Given the description of an element on the screen output the (x, y) to click on. 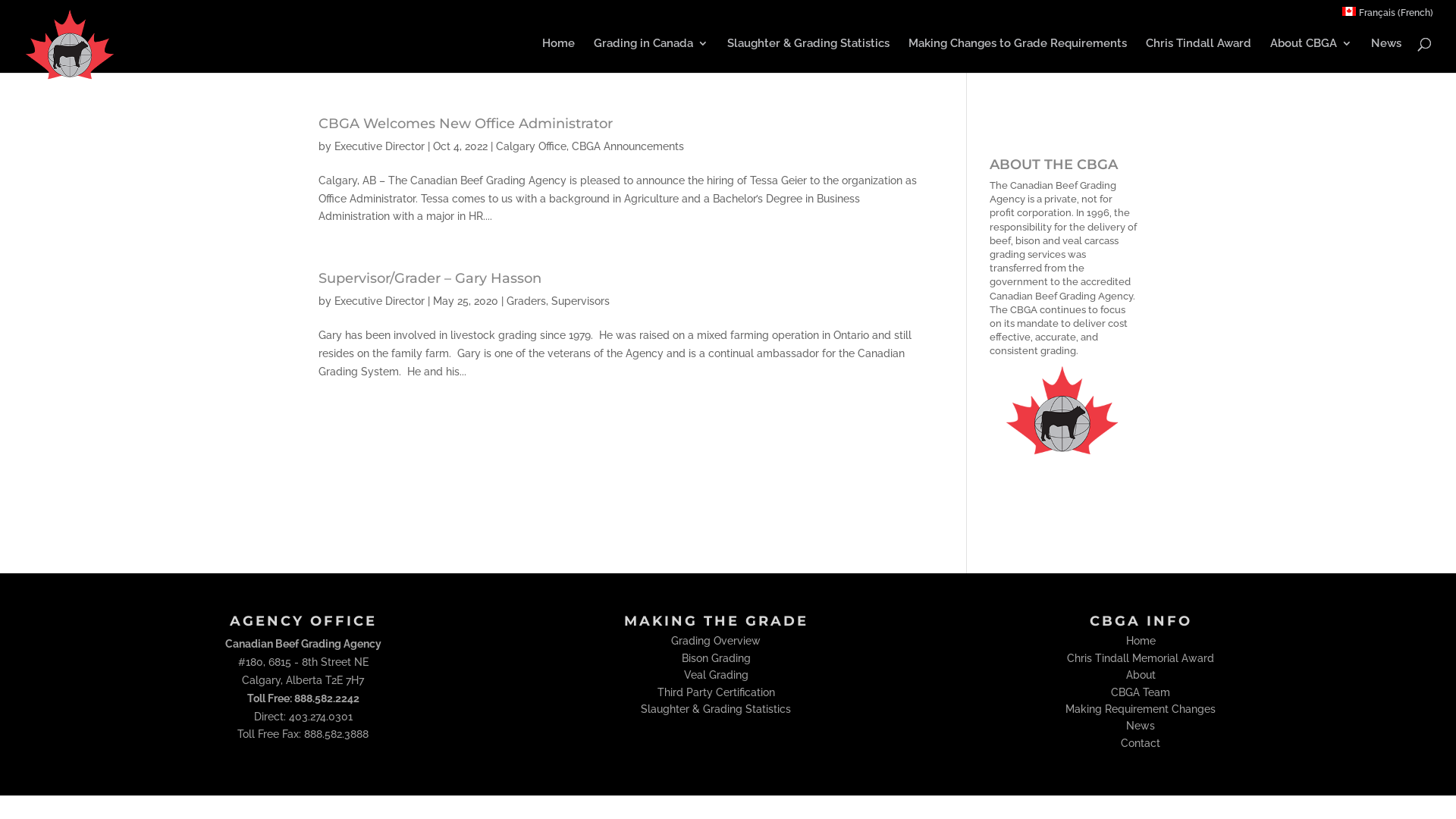
Making Requirement Changes Element type: text (1140, 708)
Contact Element type: text (1140, 743)
Executive Director Element type: text (379, 146)
Supervisors Element type: text (580, 300)
Graders Element type: text (526, 300)
Slaughter & Grading Statistics Element type: text (808, 49)
About Element type: text (1140, 674)
CBGA Announcements Element type: text (627, 146)
CBGA Logo Element type: hover (1063, 422)
Executive Director Element type: text (379, 300)
Grading Overview Element type: text (715, 640)
News Element type: text (1140, 725)
About CBGA Element type: text (1311, 49)
CBGA Welcomes New Office Administrator Element type: text (465, 123)
Chris Tindall Award Element type: text (1198, 49)
Third Party Certification Element type: text (716, 692)
Slaughter & Grading Statistics Element type: text (715, 708)
Veal Grading Element type: text (716, 674)
Calgary Office Element type: text (530, 146)
Making Changes to Grade Requirements Element type: text (1017, 49)
Chris Tindall Memorial Award Element type: text (1140, 658)
CBGA Team Element type: text (1140, 692)
Home Element type: text (558, 49)
Grading in Canada Element type: text (650, 49)
News Element type: text (1386, 49)
Home Element type: text (1140, 640)
Bison Grading Element type: text (715, 658)
